Given the description of an element on the screen output the (x, y) to click on. 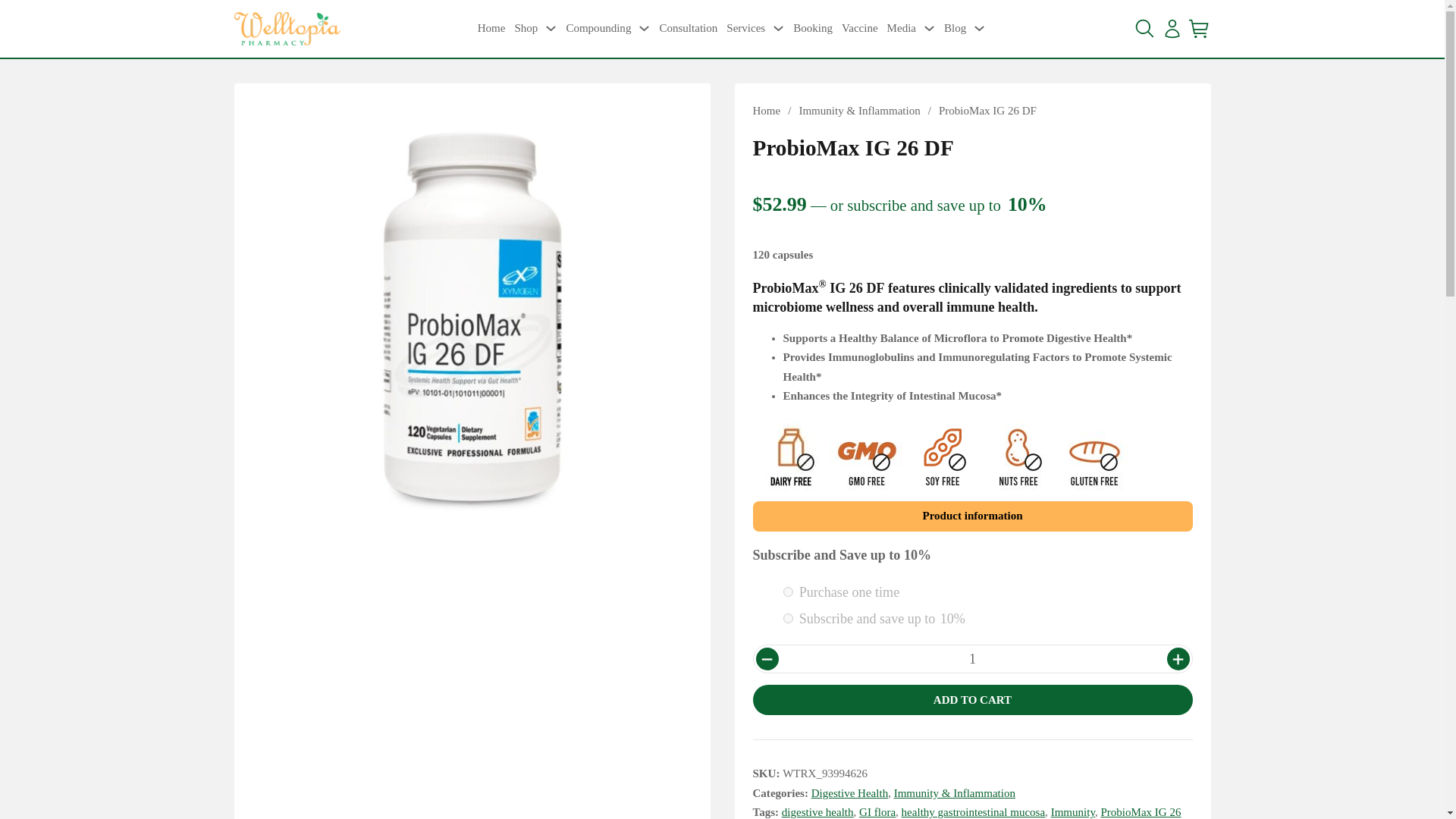
Consultation (688, 28)
1 (971, 658)
no (787, 592)
Services (745, 28)
yes (787, 618)
Booking (812, 28)
Home (491, 28)
Shop (525, 28)
Compounding (598, 28)
